Given the description of an element on the screen output the (x, y) to click on. 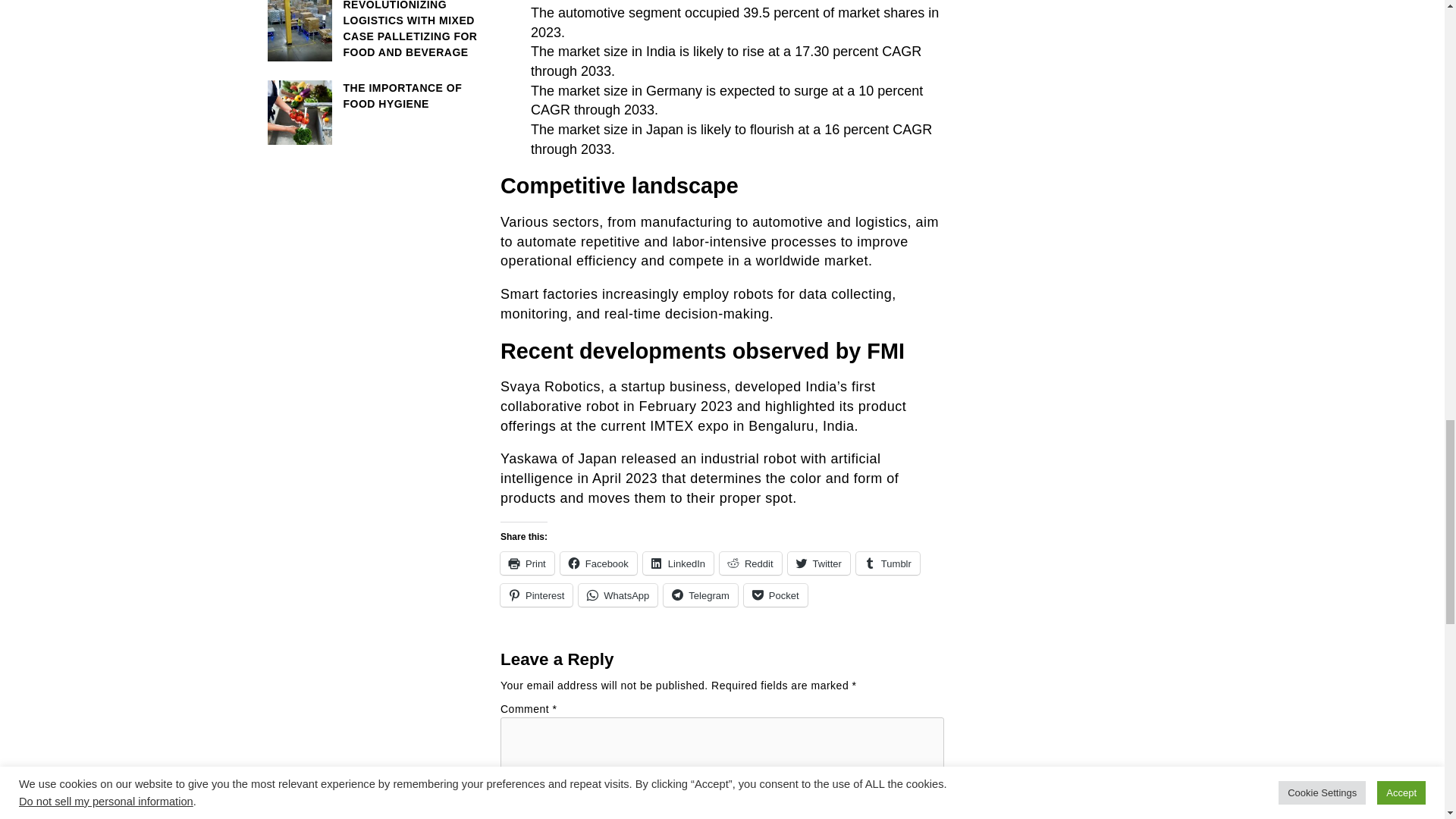
Click to share on Pocket (776, 594)
Click to share on Telegram (699, 594)
Click to share on Twitter (818, 563)
Click to share on Reddit (750, 563)
Click to share on Facebook (598, 563)
Click to print (527, 563)
Click to share on LinkedIn (678, 563)
Click to share on Pinterest (536, 594)
Click to share on WhatsApp (618, 594)
Click to share on Tumblr (888, 563)
